Given the description of an element on the screen output the (x, y) to click on. 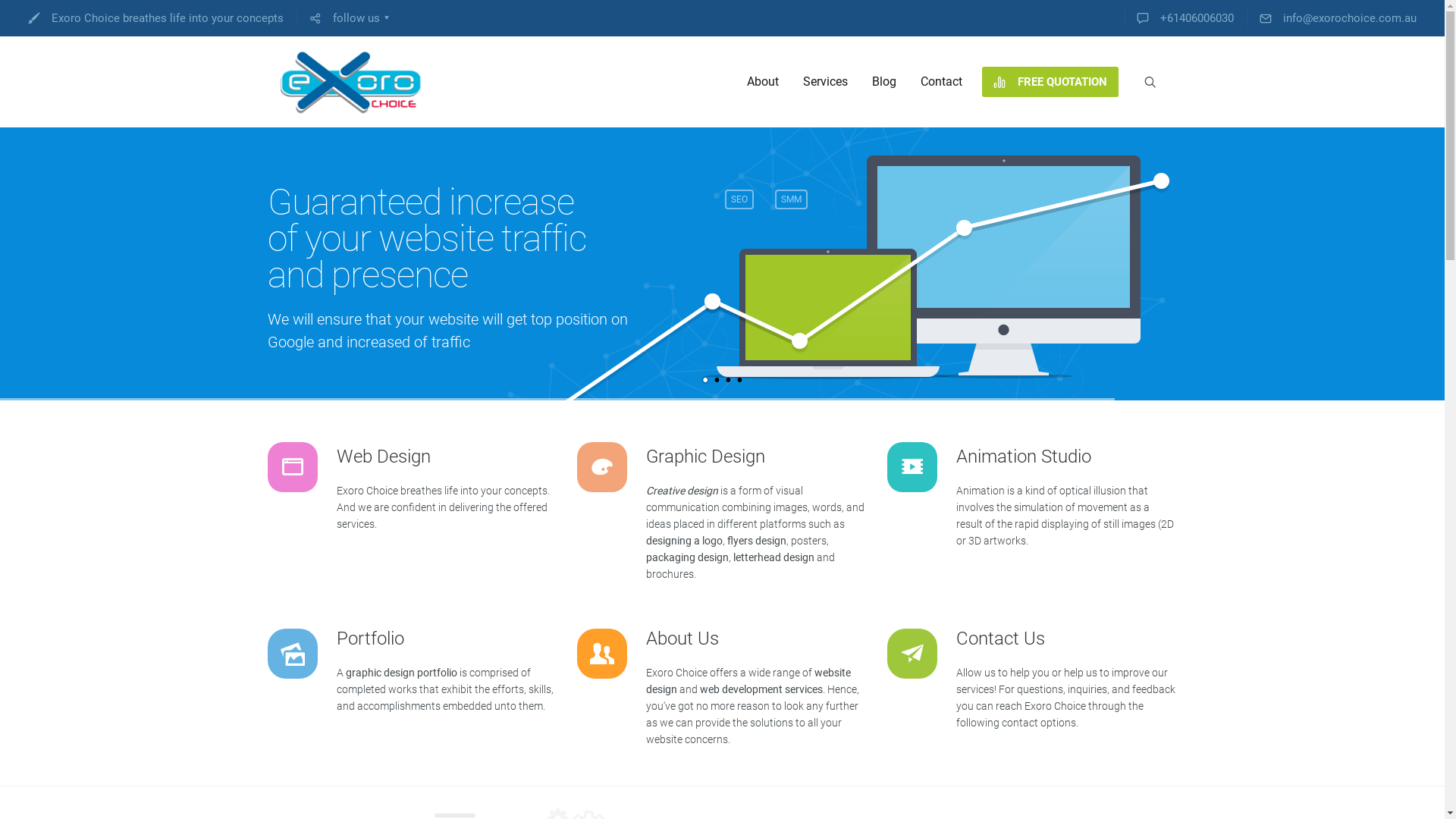
Web Design Element type: text (383, 456)
Search Element type: text (13, 14)
+61406006030 Element type: text (1184, 18)
About Us Element type: text (682, 638)
Graphic Design Element type: text (705, 456)
FREE QUOTATION Element type: text (1049, 81)
Contact Us Element type: text (999, 638)
Blog Element type: text (883, 81)
Exoro Choice Element type: hover (351, 81)
Services Element type: text (824, 81)
info@exorochoice.com.au Element type: text (1337, 18)
Portfolio Element type: text (370, 638)
About Element type: text (762, 81)
Contact Element type: text (941, 81)
Exoro Choice breathes life into your concepts Element type: text (155, 18)
follow us Element type: text (344, 18)
Animation Studio Element type: text (1022, 456)
